Given the description of an element on the screen output the (x, y) to click on. 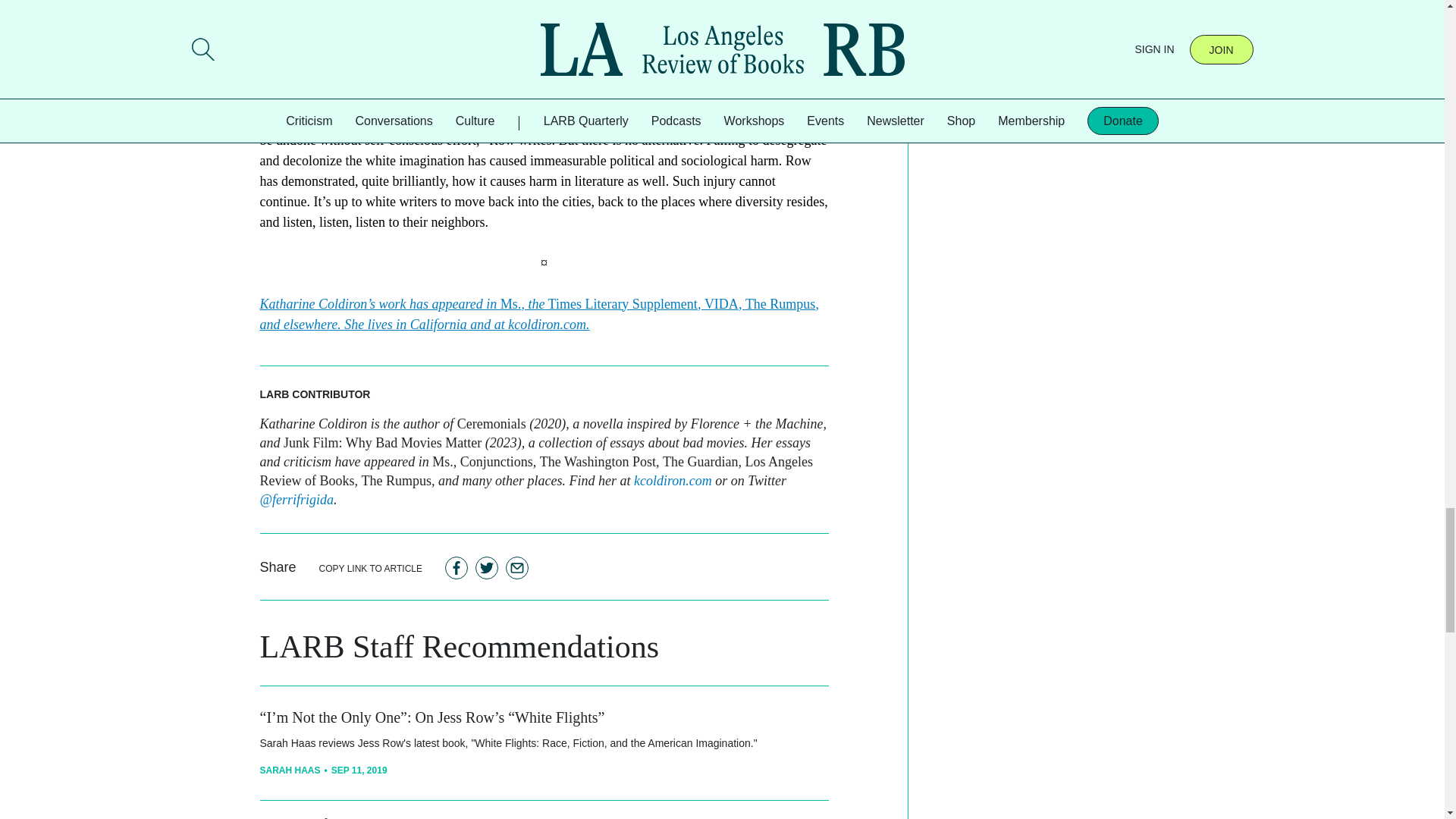
kcoldiron.com (672, 480)
COPY LINK TO ARTICLE (370, 566)
SARAH HAAS (289, 769)
Share on facebook (456, 567)
Share on twitter (486, 567)
